Given the description of an element on the screen output the (x, y) to click on. 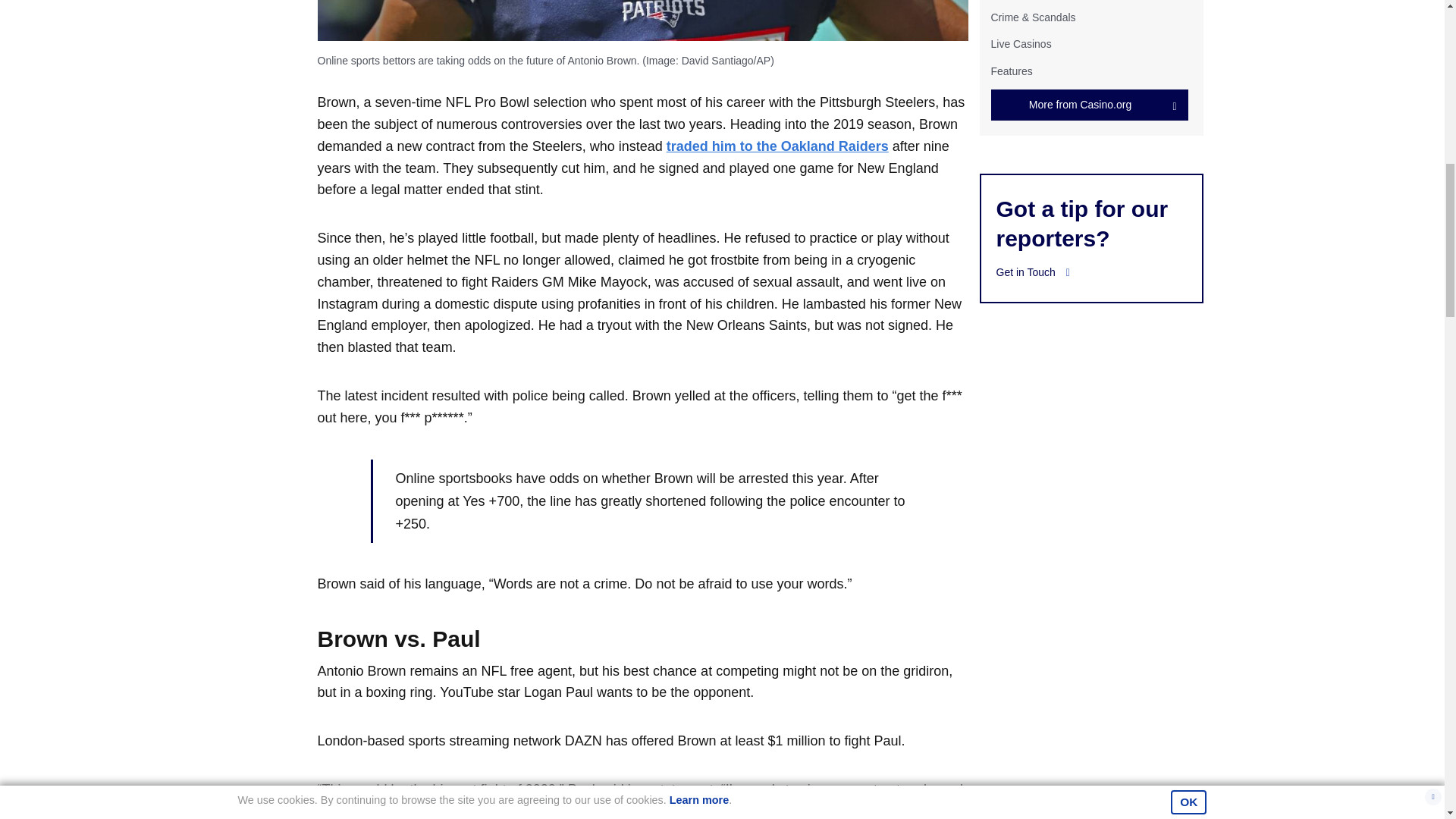
Features (1011, 70)
Live Casinos (1020, 43)
traded him to the Oakland Raiders (777, 145)
